Given the description of an element on the screen output the (x, y) to click on. 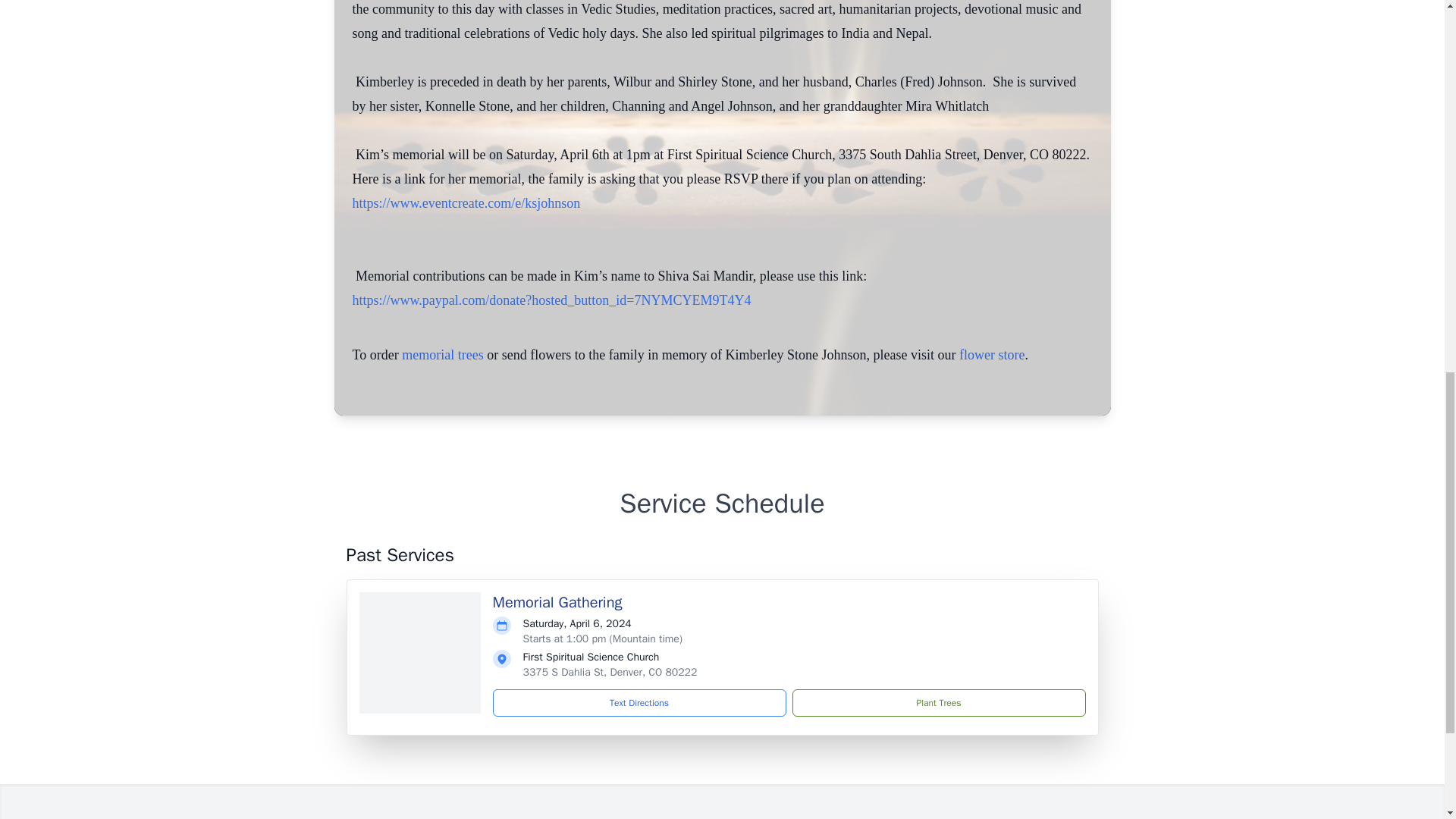
Text Directions (639, 702)
3375 S Dahlia St, Denver, CO 80222 (609, 671)
Plant Trees (938, 702)
flower store (992, 354)
memorial trees (442, 354)
